Given the description of an element on the screen output the (x, y) to click on. 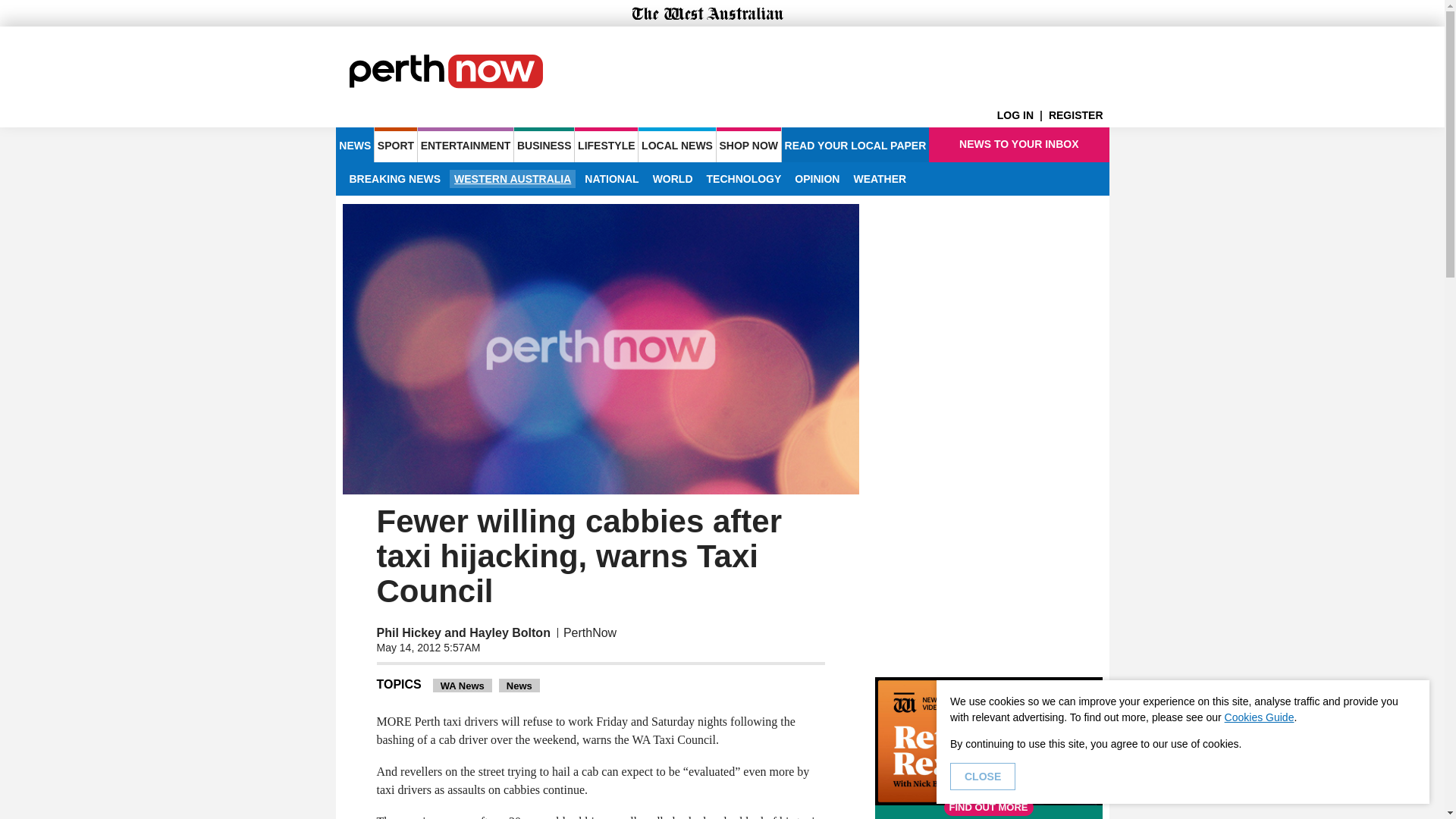
REGISTER (1078, 115)
SPORT (395, 144)
LOG IN (1022, 115)
NEWS (354, 144)
ENTERTAINMENT (465, 144)
